Given the description of an element on the screen output the (x, y) to click on. 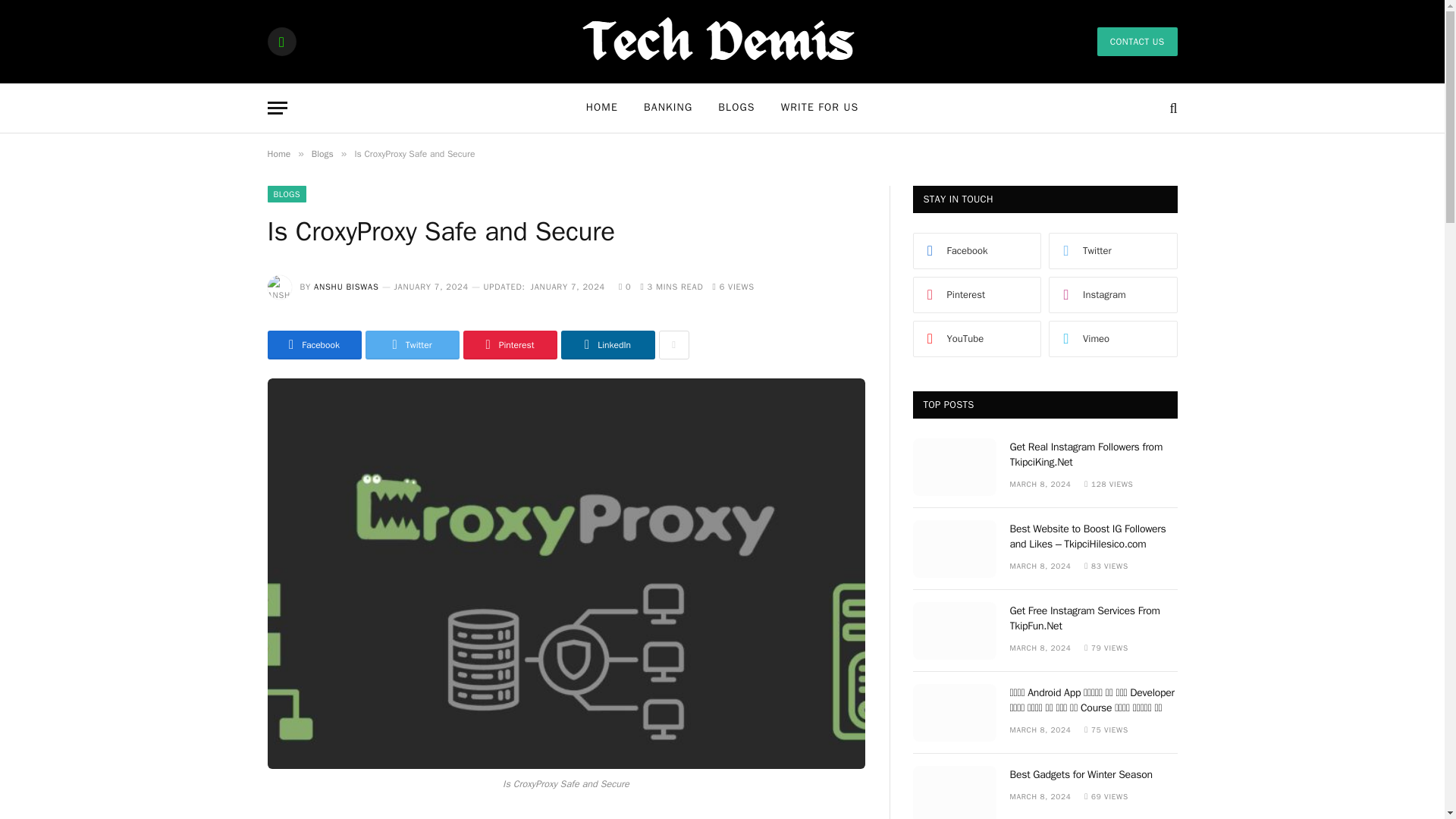
Share on Pinterest (509, 344)
WRITE FOR US (820, 107)
Search (1171, 107)
WhatsApp (280, 41)
BLOGS (735, 107)
HOME (601, 107)
LinkedIn (607, 344)
Home (277, 153)
Share on Facebook (313, 344)
Tech Demis (721, 41)
Facebook (313, 344)
ANSHU BISWAS (346, 286)
BLOGS (285, 193)
Share on LinkedIn (607, 344)
BANKING (667, 107)
